Given the description of an element on the screen output the (x, y) to click on. 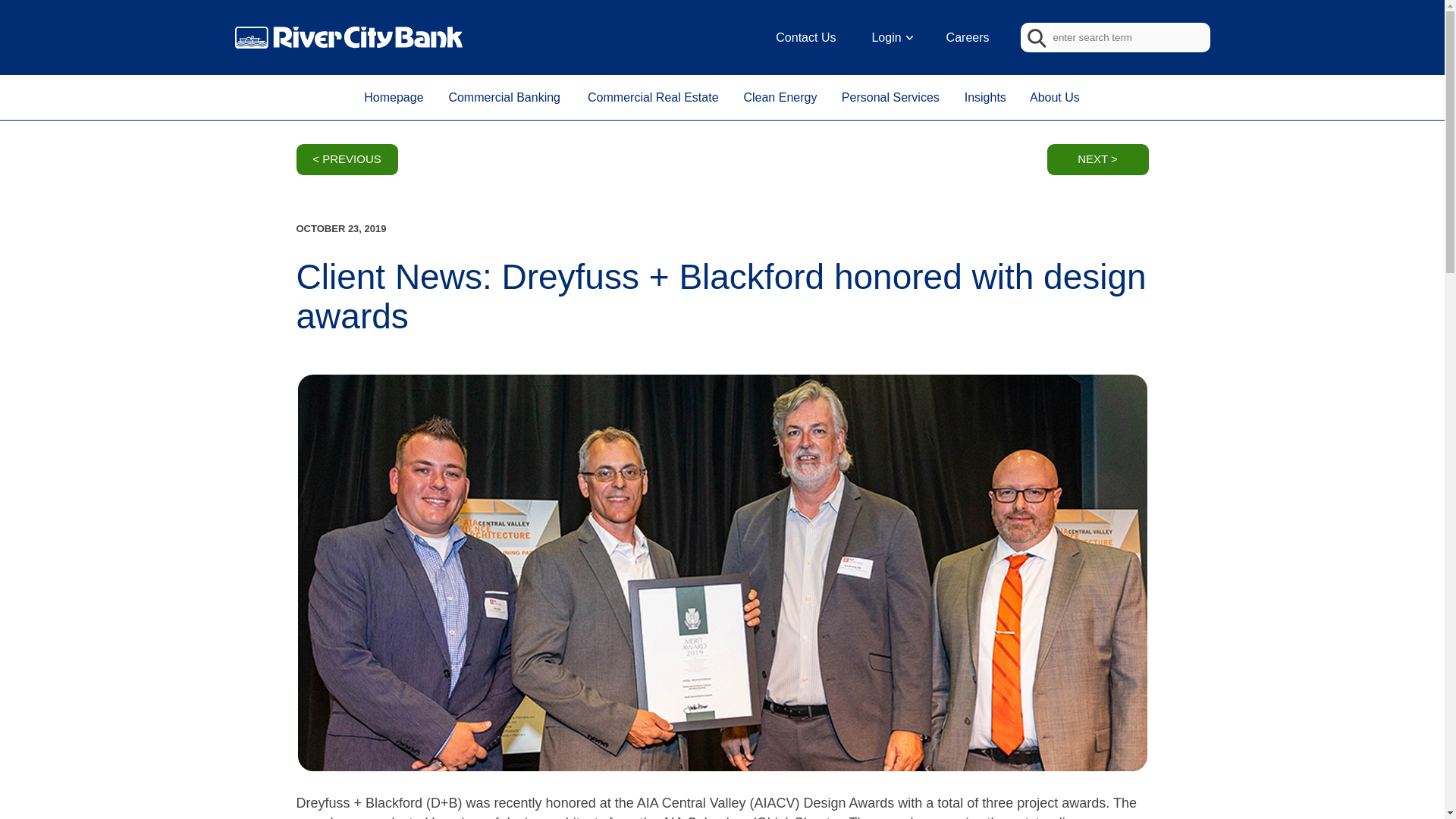
Commercial Banking (504, 97)
Careers (967, 37)
Homepage (393, 97)
Contact Us (805, 37)
Personal Services (890, 97)
Contact Us (805, 37)
Submit Search (1035, 37)
Submit Search (1035, 37)
Clean Energy (779, 97)
Careers (967, 37)
Login (889, 37)
River City Bank (348, 37)
enter search term (1130, 37)
Login (889, 37)
Commercial Banking (504, 97)
